Given the description of an element on the screen output the (x, y) to click on. 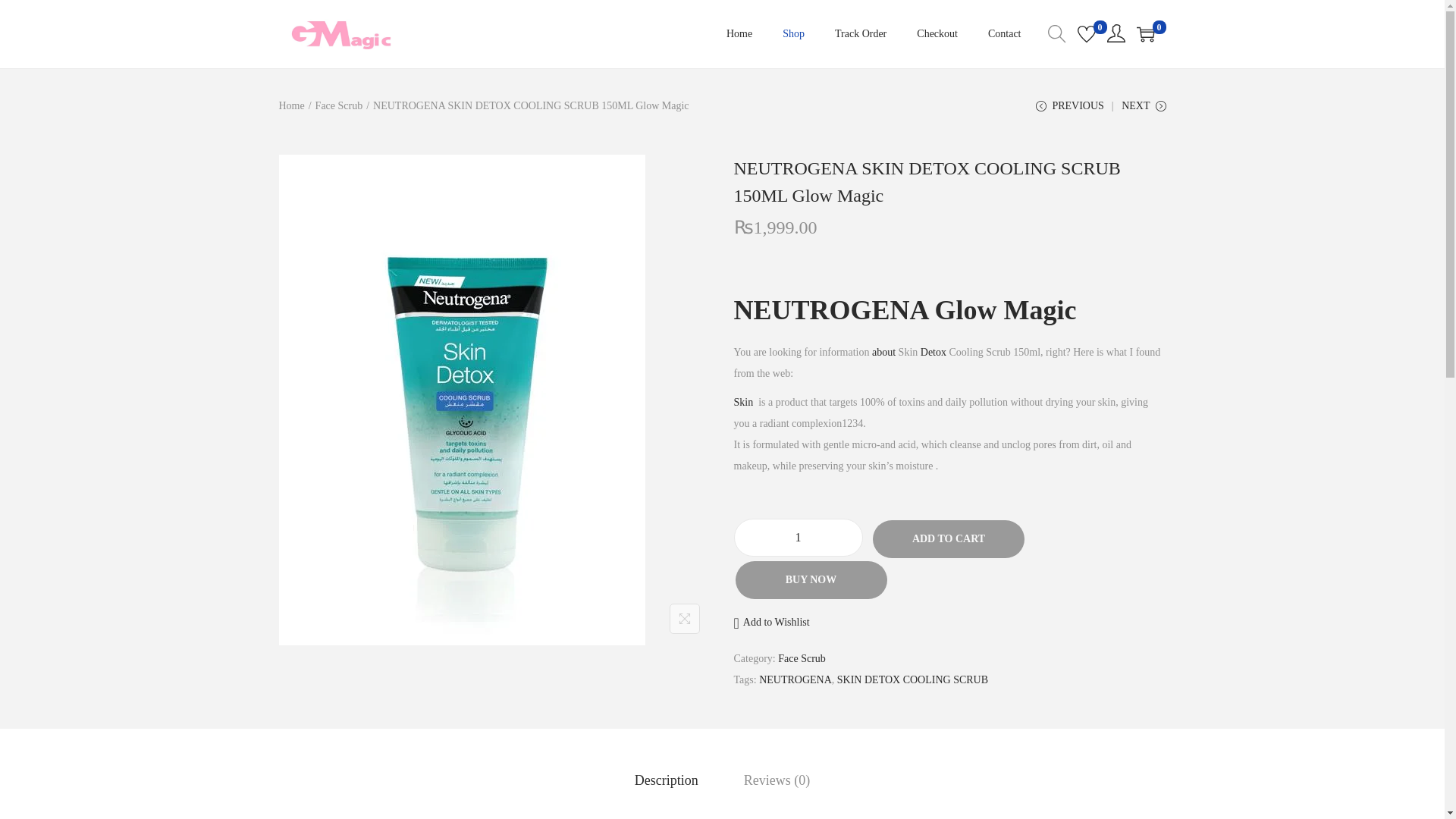
BUY NOW (810, 579)
NEUTROGENA SKIN DETOX COOLING SCRUB 150ML Glow Magic (927, 181)
PREVIOUS (1069, 111)
Face Scrub (338, 105)
Skin (743, 401)
Checkout (937, 33)
0 (1085, 34)
1 (797, 537)
0 (1144, 34)
Detox (933, 351)
Add to Wishlist (771, 622)
about (883, 351)
ADD TO CART (948, 538)
NEXT (1143, 111)
